Given the description of an element on the screen output the (x, y) to click on. 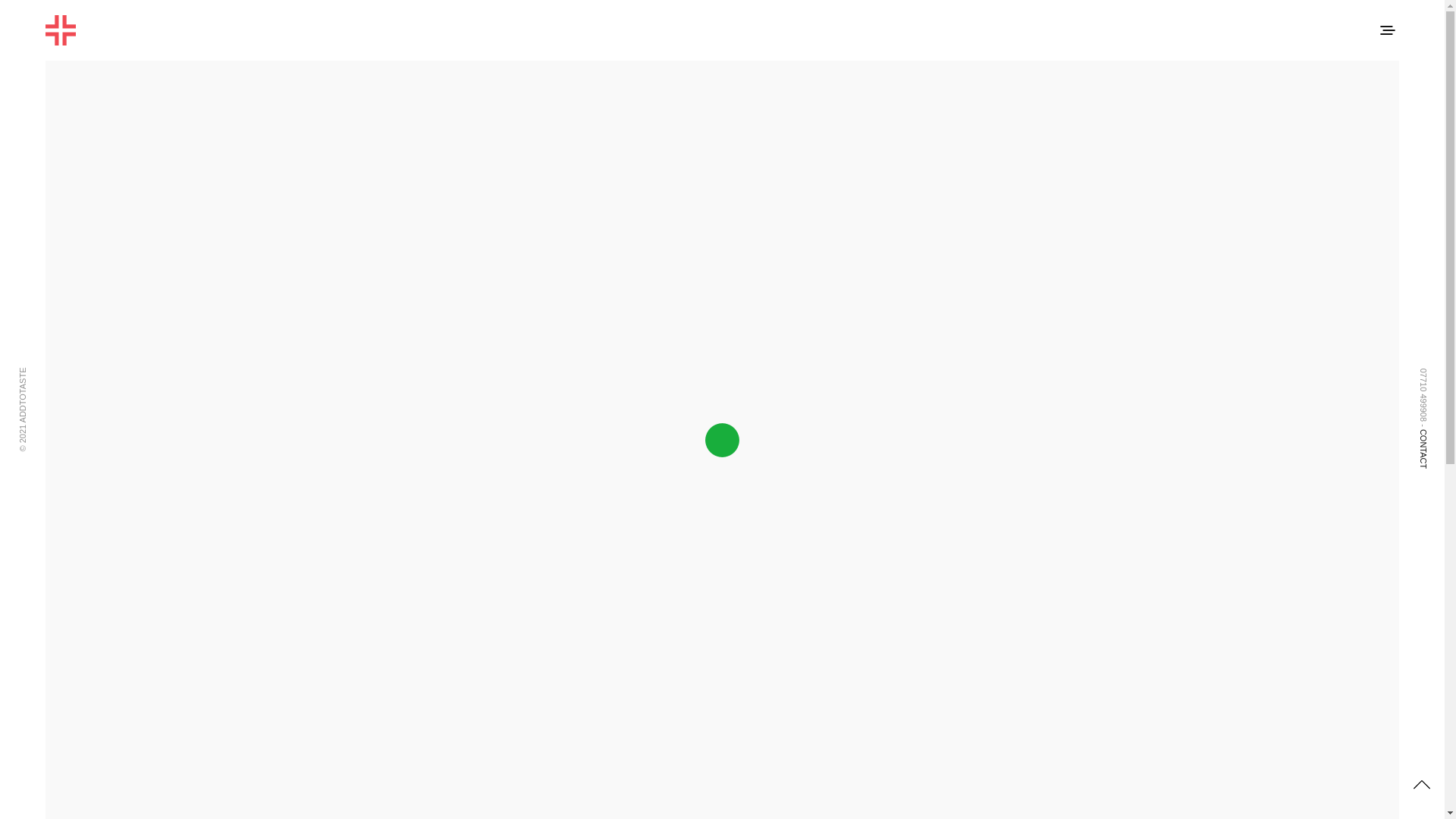
book of ra player (646, 693)
Main (532, 65)
